Given the description of an element on the screen output the (x, y) to click on. 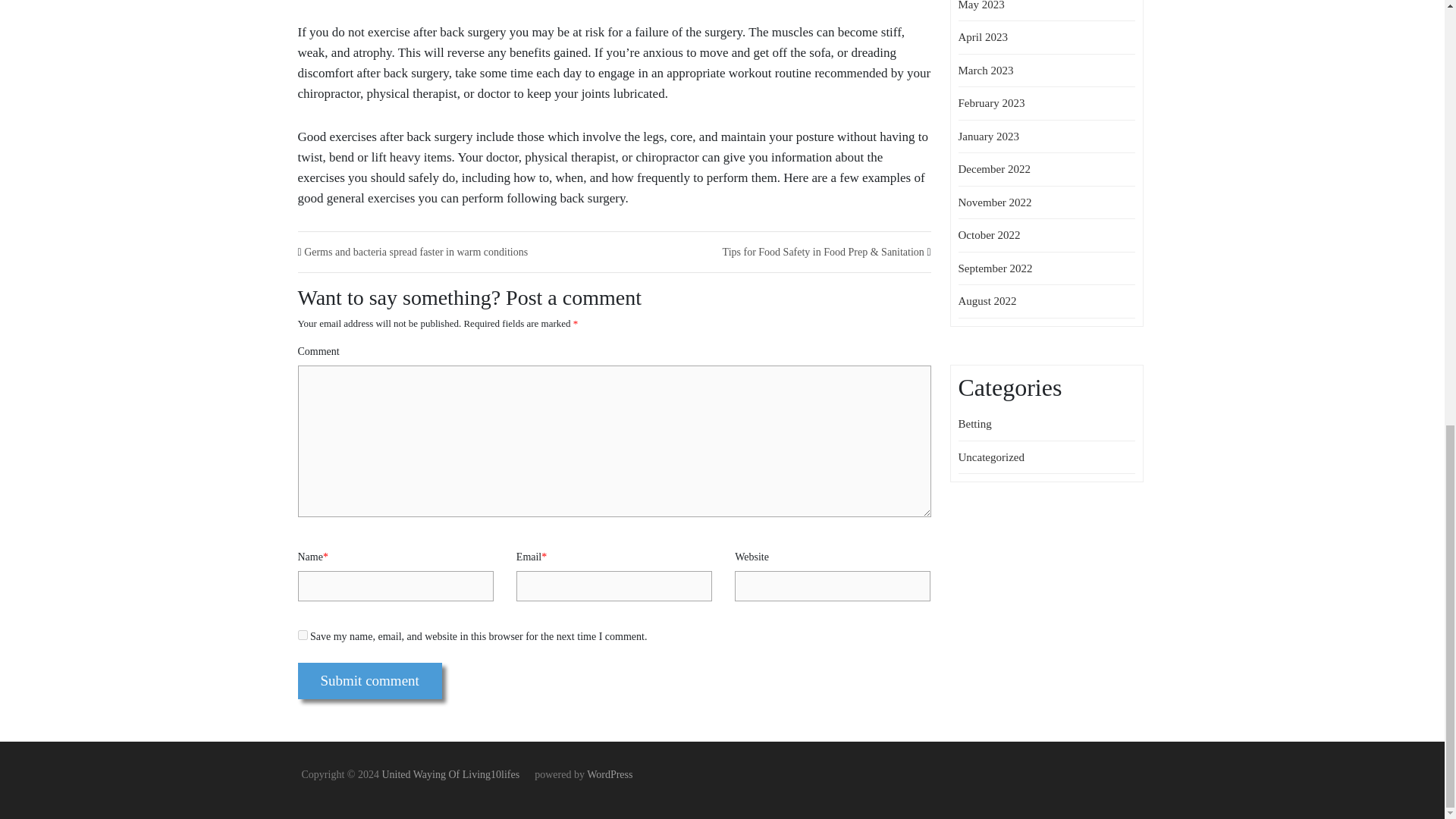
yes (302, 634)
Germs and bacteria spread faster in warm conditions (415, 251)
Submit comment (369, 681)
Submit comment (369, 681)
